Given the description of an element on the screen output the (x, y) to click on. 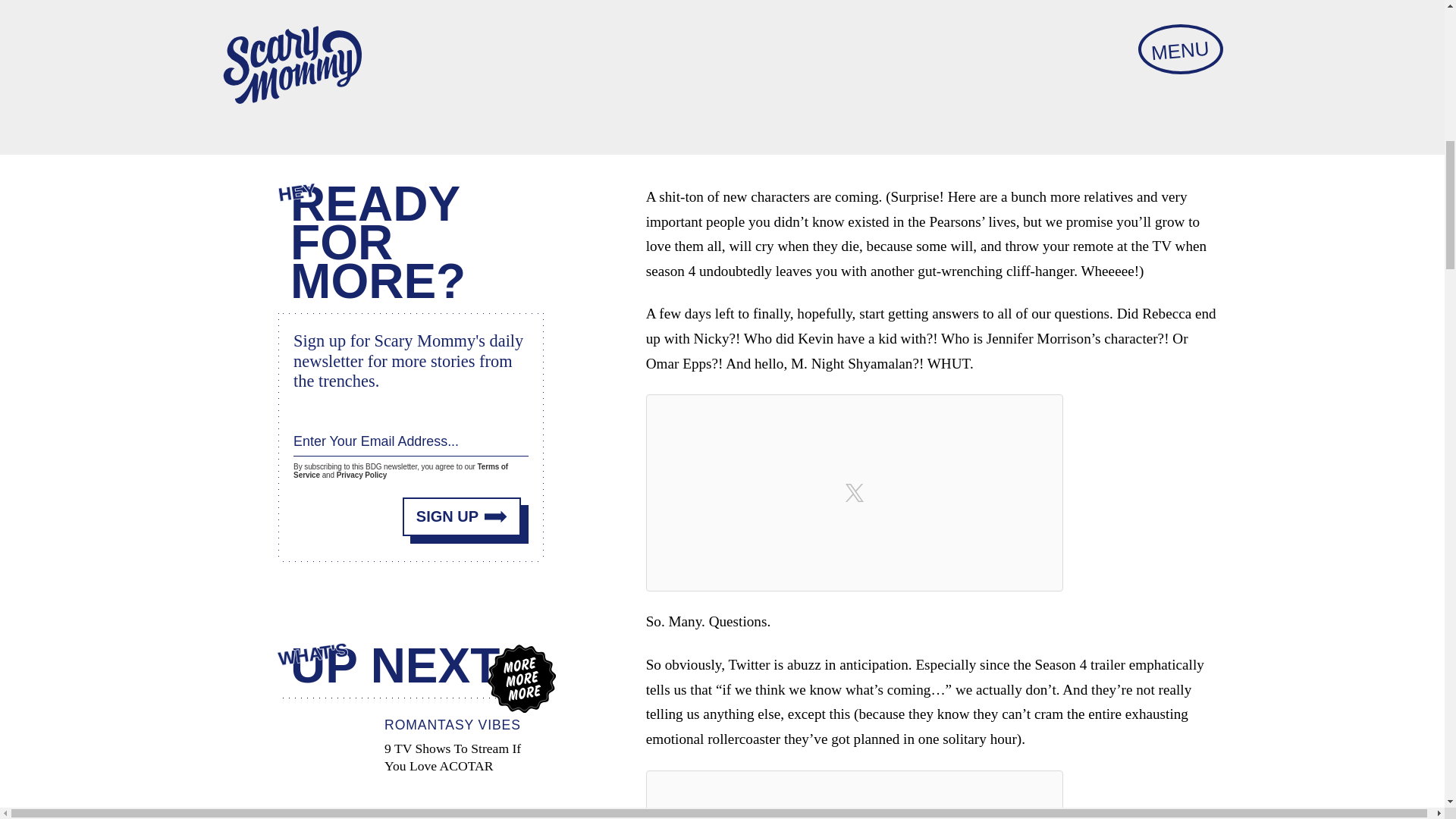
Privacy Policy (361, 474)
SIGN UP (462, 516)
Terms of Service (410, 758)
